Given the description of an element on the screen output the (x, y) to click on. 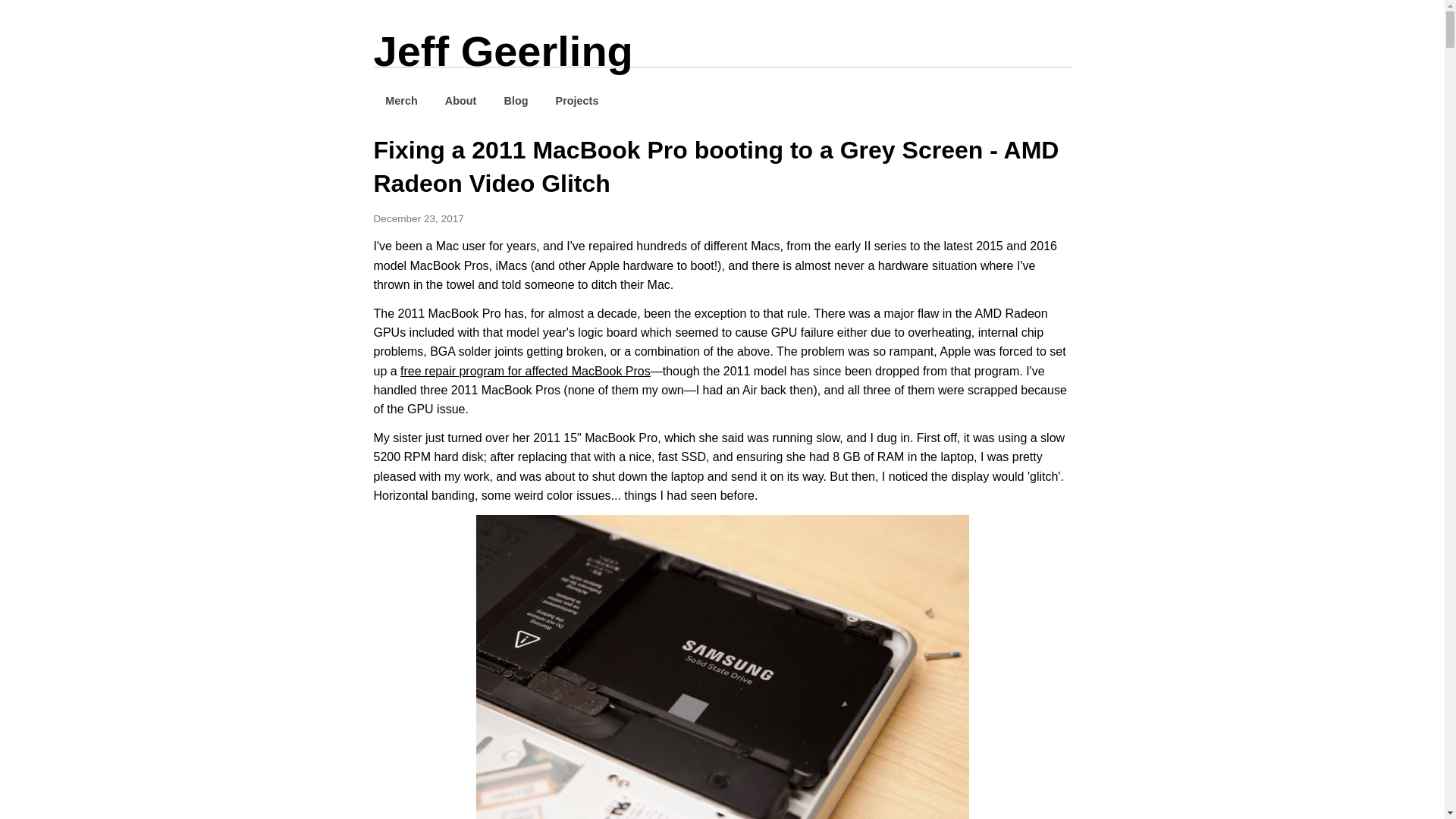
Saturday, December 23, 2017 - 10:59 (417, 218)
Projects (577, 100)
Home (501, 51)
Blog (515, 100)
free repair program for affected MacBook Pros (525, 370)
About (459, 100)
Jeff Geerling (501, 51)
Merch (401, 100)
